Given the description of an element on the screen output the (x, y) to click on. 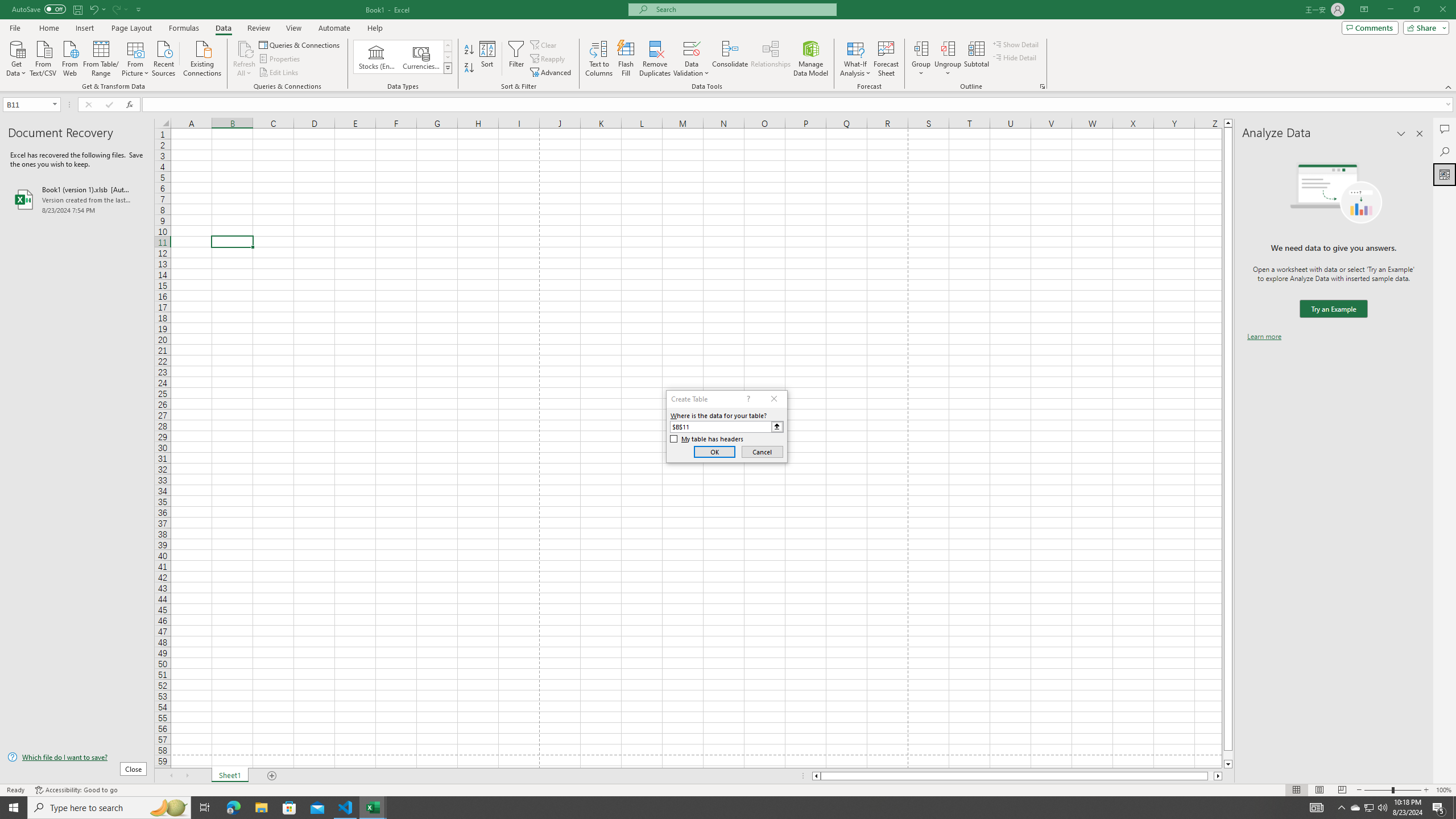
Reapply (548, 58)
Page Break Preview (1342, 790)
From Table/Range (100, 57)
